Given the description of an element on the screen output the (x, y) to click on. 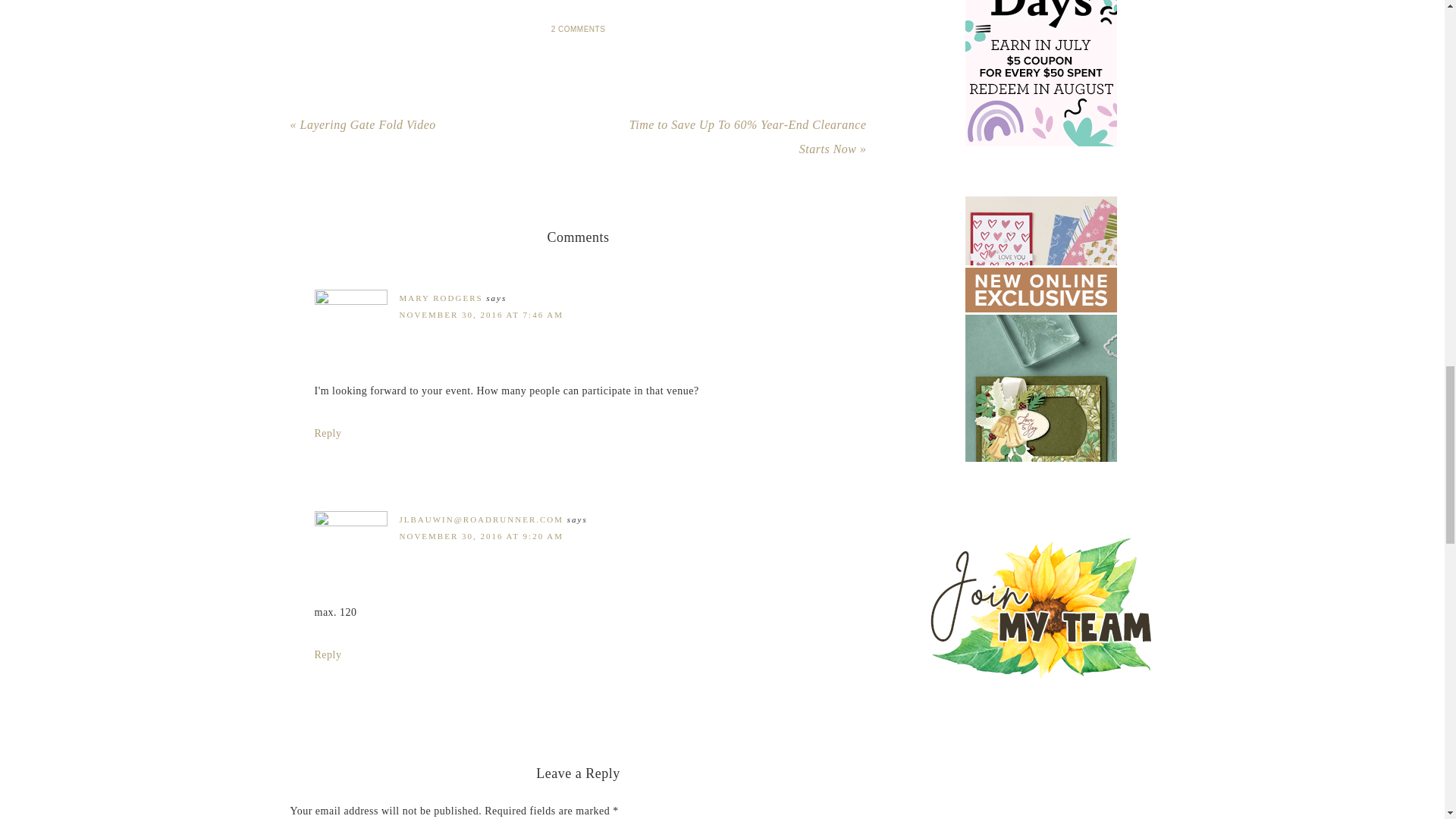
Reply (327, 654)
NOVEMBER 30, 2016 AT 9:20 AM (480, 535)
NOVEMBER 30, 2016 AT 7:46 AM (480, 314)
2 COMMENTS (578, 29)
MARY RODGERS (439, 297)
Reply (327, 432)
